Given the description of an element on the screen output the (x, y) to click on. 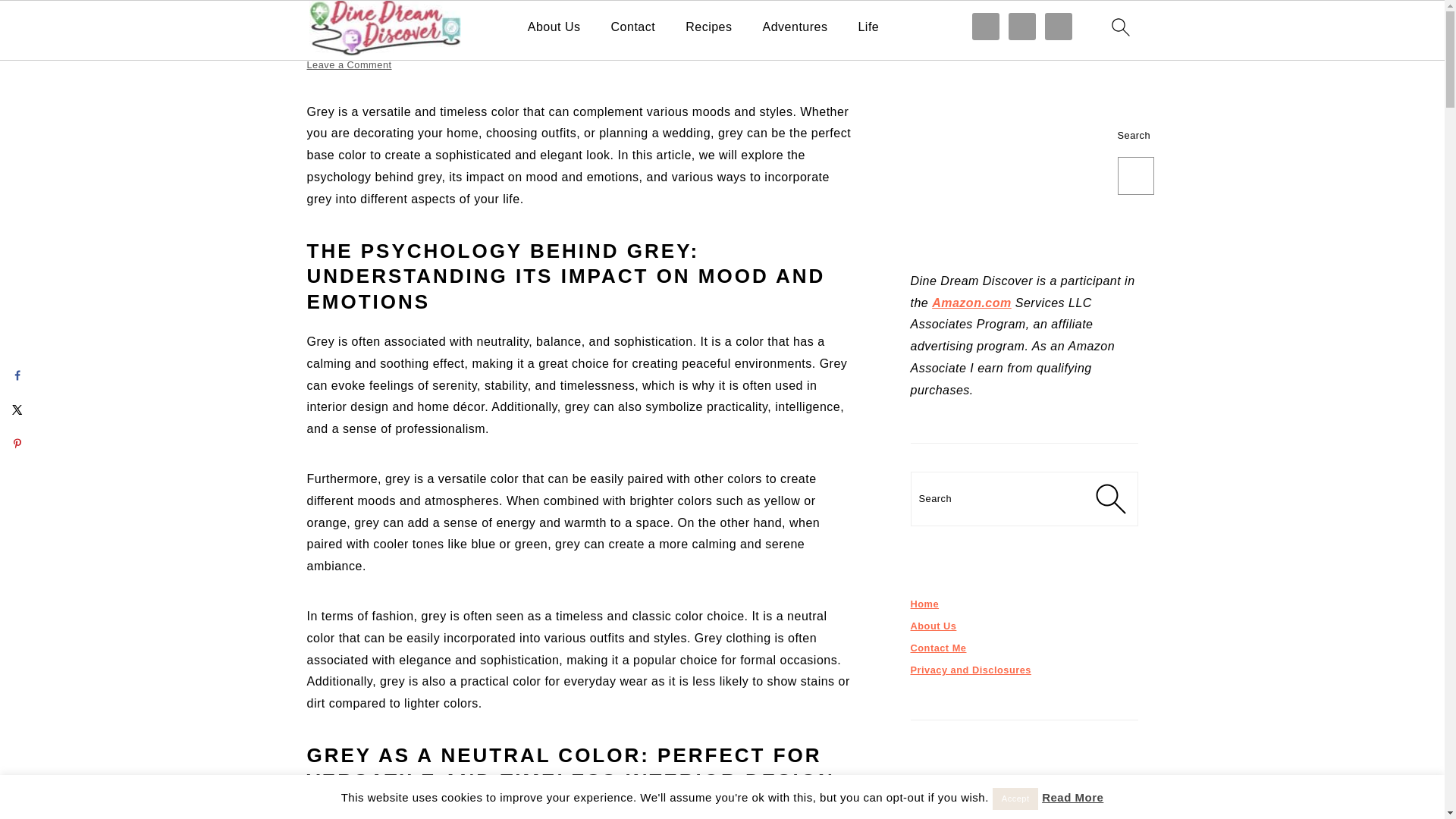
Save to Pinterest (16, 442)
Share on Facebook (16, 374)
search icon (1119, 26)
Adventures (795, 26)
Contact (633, 26)
Share on X (16, 409)
About Us (553, 26)
Recipes (708, 26)
Life (868, 26)
